Given the description of an element on the screen output the (x, y) to click on. 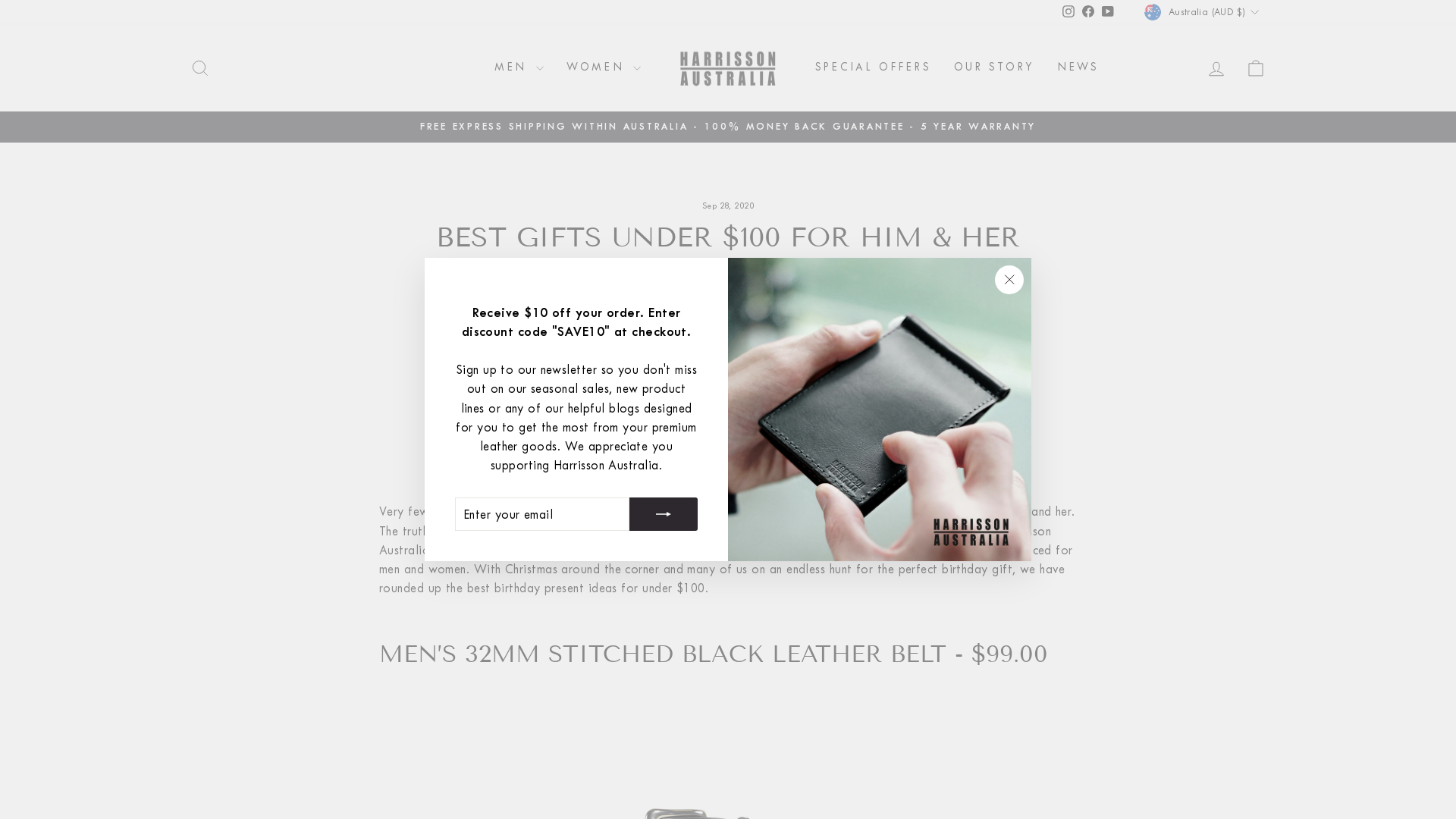
instagram
Instagram Element type: text (1068, 11)
Facebook Element type: text (1088, 11)
ICON-BAG-MINIMAL
CART Element type: text (1255, 67)
ICON-SEARCH
SEARCH Element type: text (199, 67)
ACCOUNT
LOG IN Element type: text (1216, 67)
YouTube Element type: text (1107, 11)
NEWS Element type: text (1077, 67)
SPECIAL OFFERS Element type: text (872, 67)
icon-X
"Close (esc)" Element type: text (1008, 279)
Australia (AUD $) Element type: text (1203, 12)
OUR STORY Element type: text (993, 67)
